Given the description of an element on the screen output the (x, y) to click on. 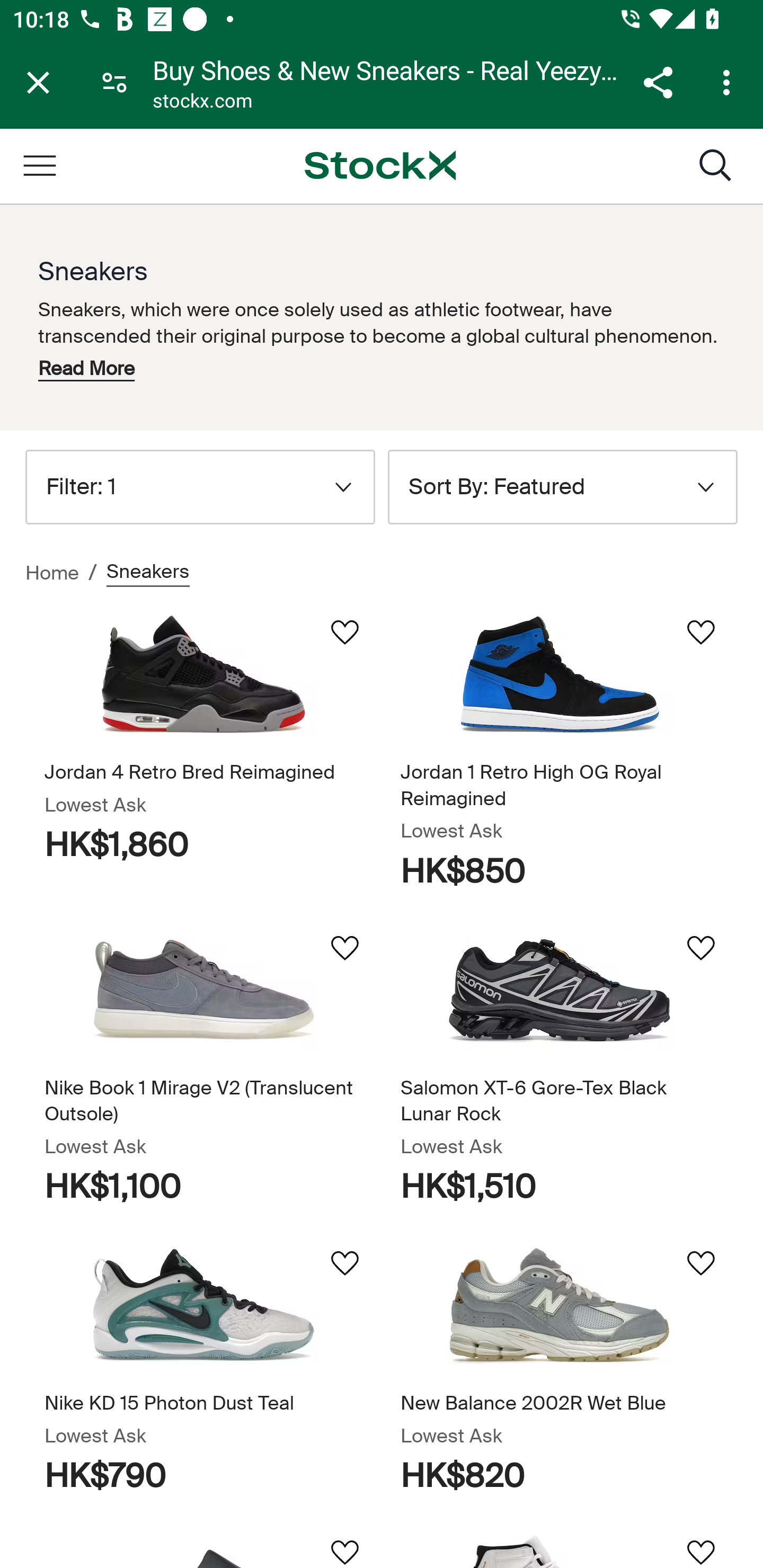
Close tab (38, 82)
Share (657, 82)
Customize and control Google Chrome (729, 82)
Connection is secure (114, 81)
stockx.com (202, 103)
Toggle Navigation (39, 165)
StockX Logo (379, 165)
Read More (86, 368)
Filter: 1 (200, 486)
Sort By: Featured (562, 486)
Home (52, 573)
Follow (344, 632)
Follow (700, 632)
Follow (344, 947)
Follow (700, 947)
Follow (344, 1262)
Follow (700, 1262)
Follow (344, 1544)
Follow (700, 1544)
